Given the description of an element on the screen output the (x, y) to click on. 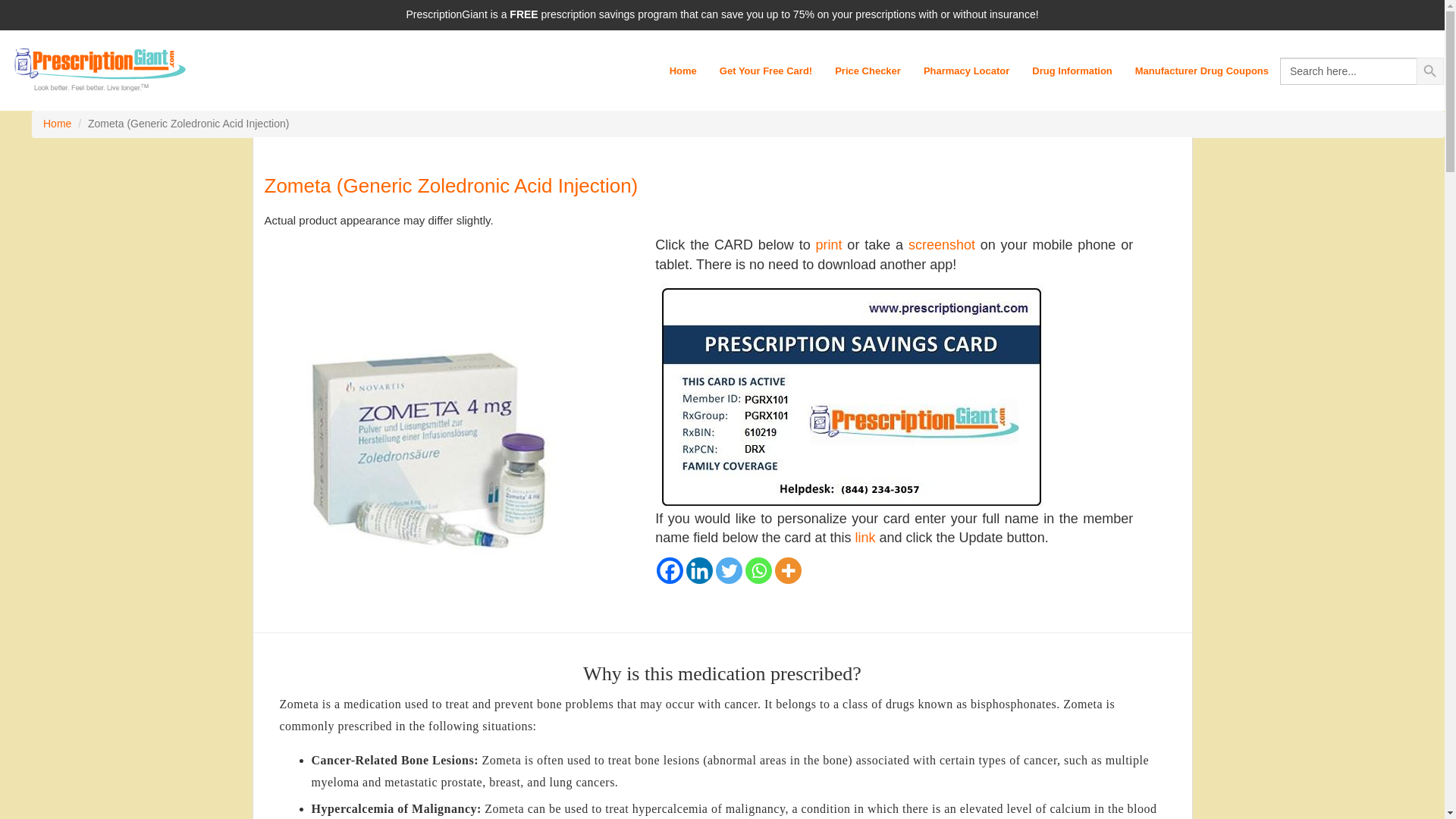
More (788, 570)
Home (57, 123)
screenshot (941, 244)
Facebook (669, 570)
Manufacturer Drug Coupons (1201, 71)
Price Checker (868, 71)
Twitter (729, 570)
Get Your Free Card! (765, 71)
print (829, 244)
Pharmacy Locator (966, 71)
Linkedin (699, 570)
Search Button (1430, 71)
Home (682, 71)
link (864, 537)
Whatsapp (758, 570)
